Given the description of an element on the screen output the (x, y) to click on. 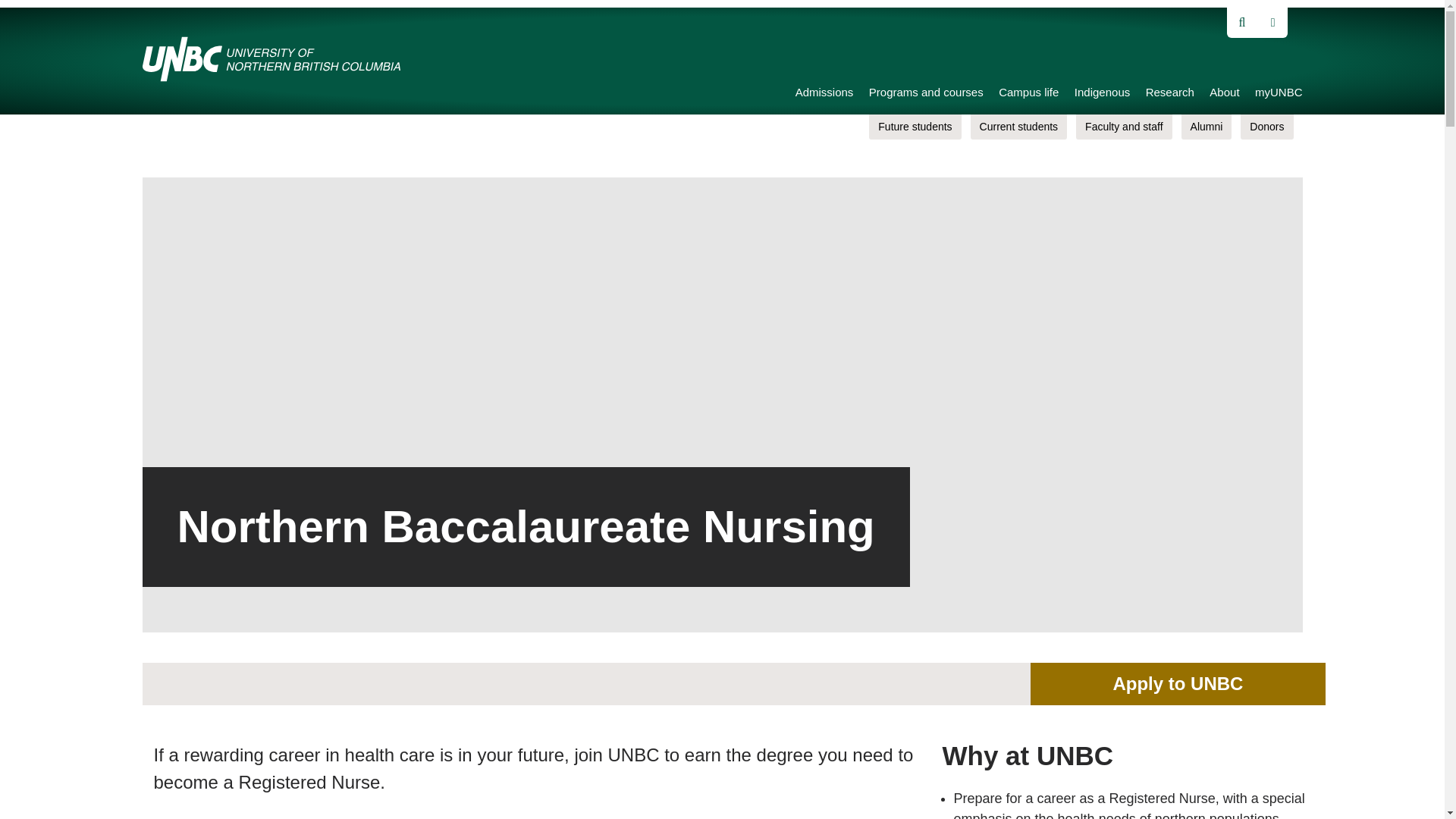
Indigenous (1101, 93)
Admissions (823, 93)
Campus life (1028, 93)
Programs and courses (926, 93)
Search (30, 17)
